Given the description of an element on the screen output the (x, y) to click on. 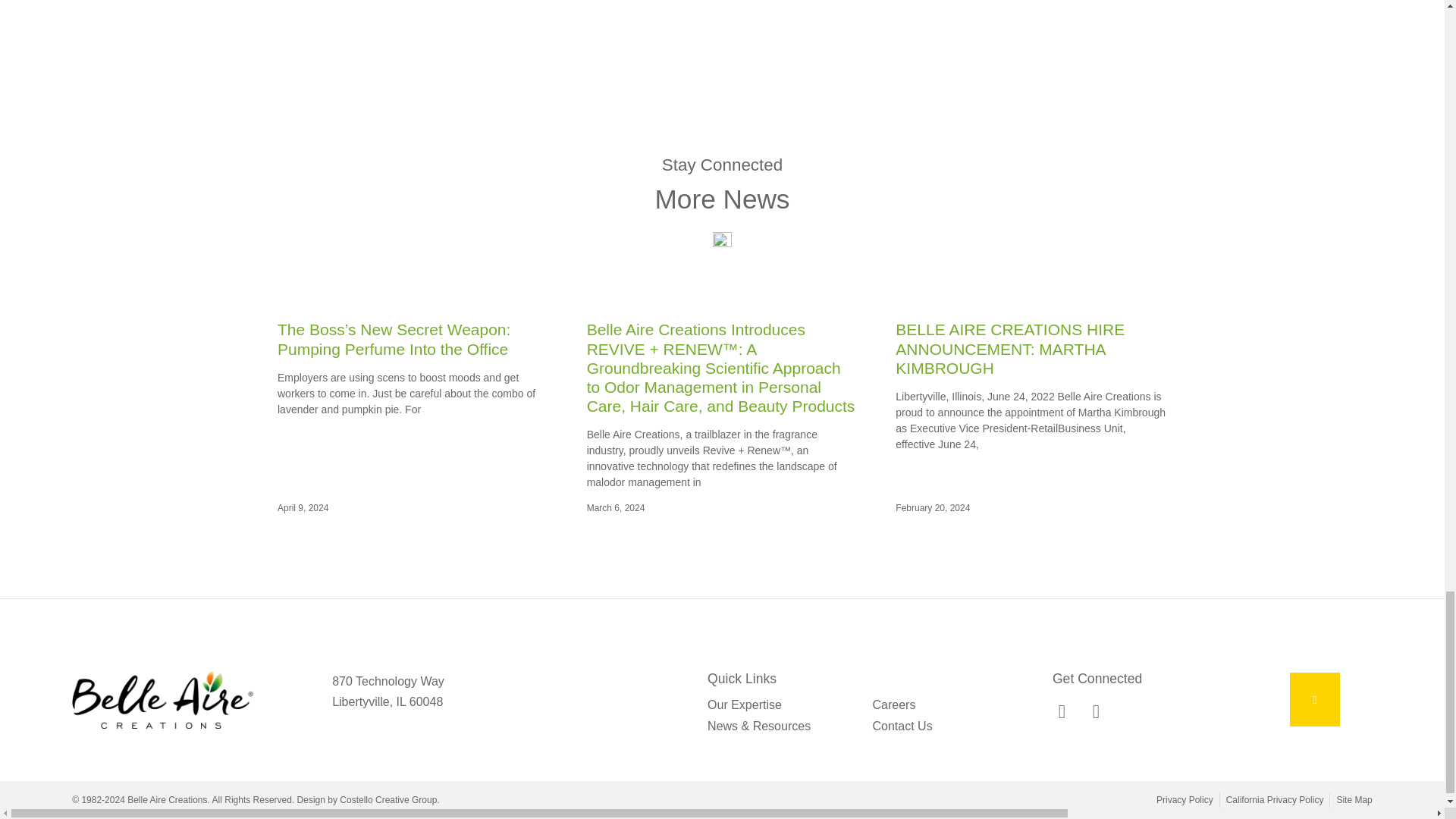
BELLE AIRE CREATIONS HIRE ANNOUNCEMENT: MARTHA KIMBROUGH (1009, 348)
Site Map (1353, 799)
California Privacy Policy (1274, 799)
Privacy Policy (1184, 799)
Our Expertise (782, 704)
Careers (947, 704)
Design by Costello Creative Group. (368, 799)
Contact Us (947, 725)
